Given the description of an element on the screen output the (x, y) to click on. 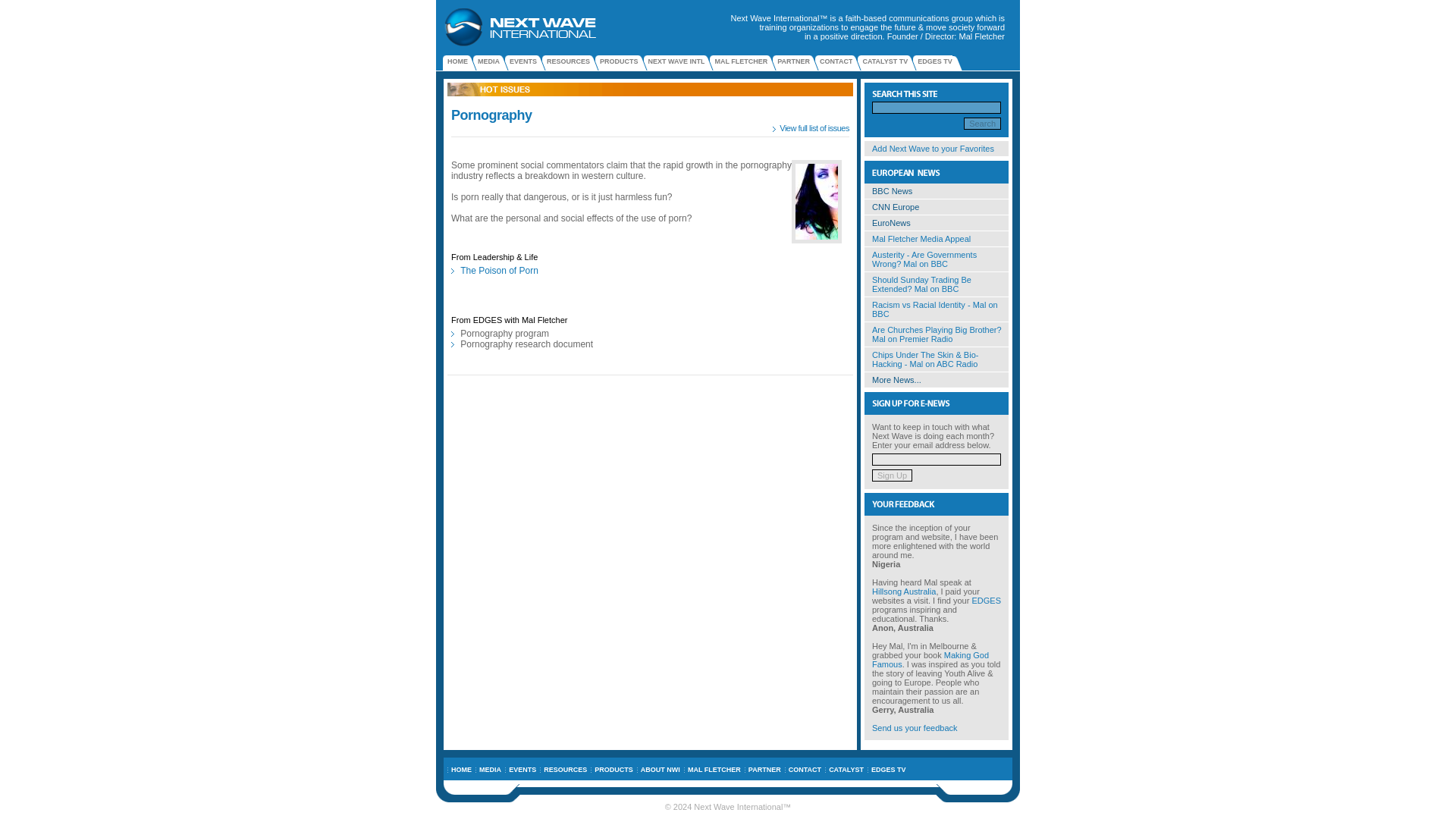
Austerity - Are Governments Wrong? Mal on BBC (924, 259)
Are Churches Playing Big Brother? Mal on Premier Radio (936, 334)
EVENTS (523, 62)
EDGES (986, 600)
Should Sunday Trading Be Extended? Mal on BBC (921, 284)
Pornography program (504, 333)
More News... (896, 379)
View full list of issues (813, 127)
RESOURCES (564, 769)
The Poison of Porn (499, 270)
HOME (461, 769)
PRODUCTS (619, 62)
NEXT WAVE INTL (675, 62)
ABOUT NWI (659, 769)
Hillsong Australia (904, 591)
